Given the description of an element on the screen output the (x, y) to click on. 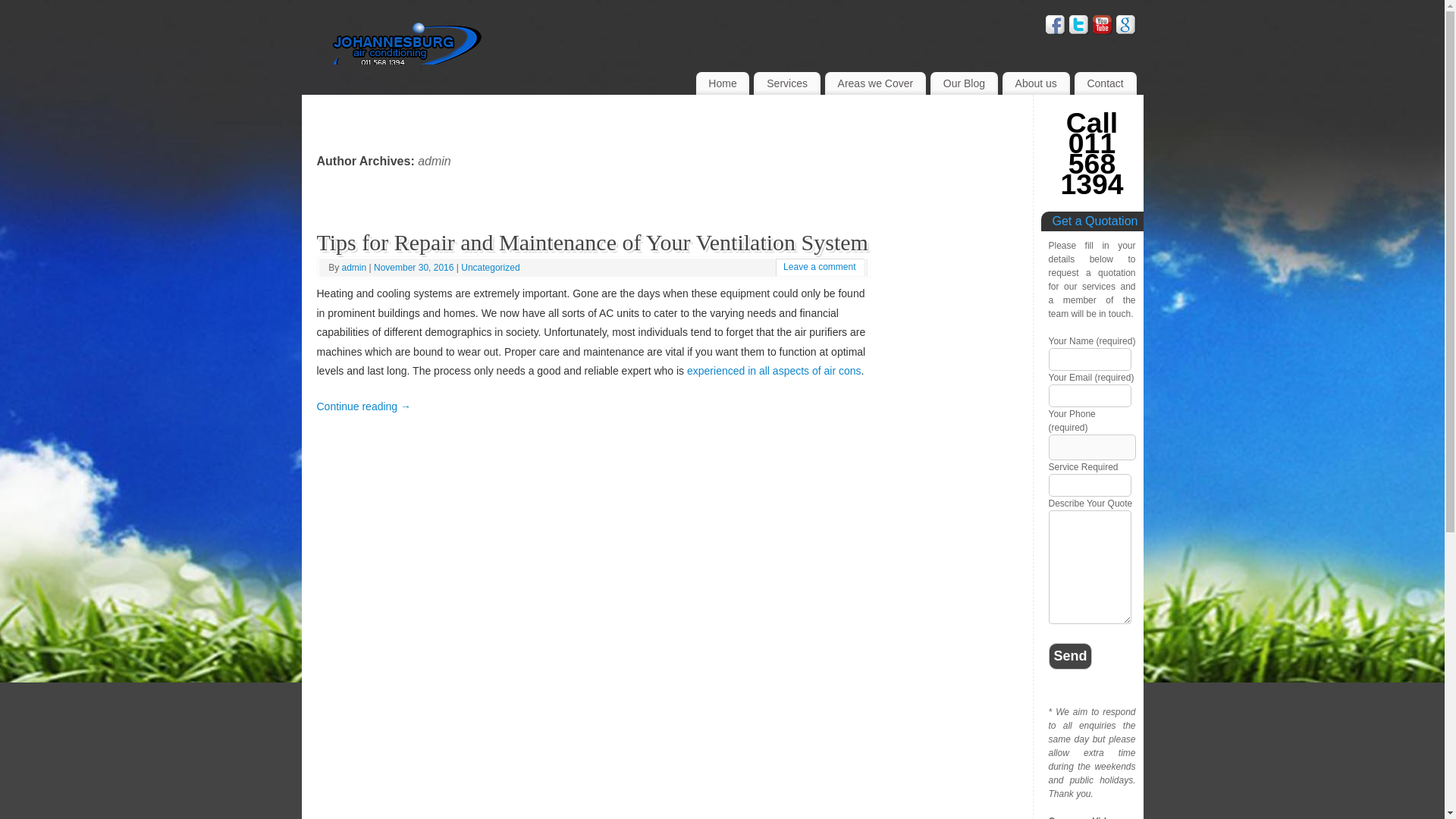
admin (434, 160)
Leave a comment (819, 266)
View all posts by admin (354, 267)
experienced in all aspects of air cons (774, 370)
Our Blog (963, 83)
Areas we Cover (875, 83)
Send (1070, 655)
Send (1070, 655)
Home (722, 83)
Uncategorized (490, 267)
